Given the description of an element on the screen output the (x, y) to click on. 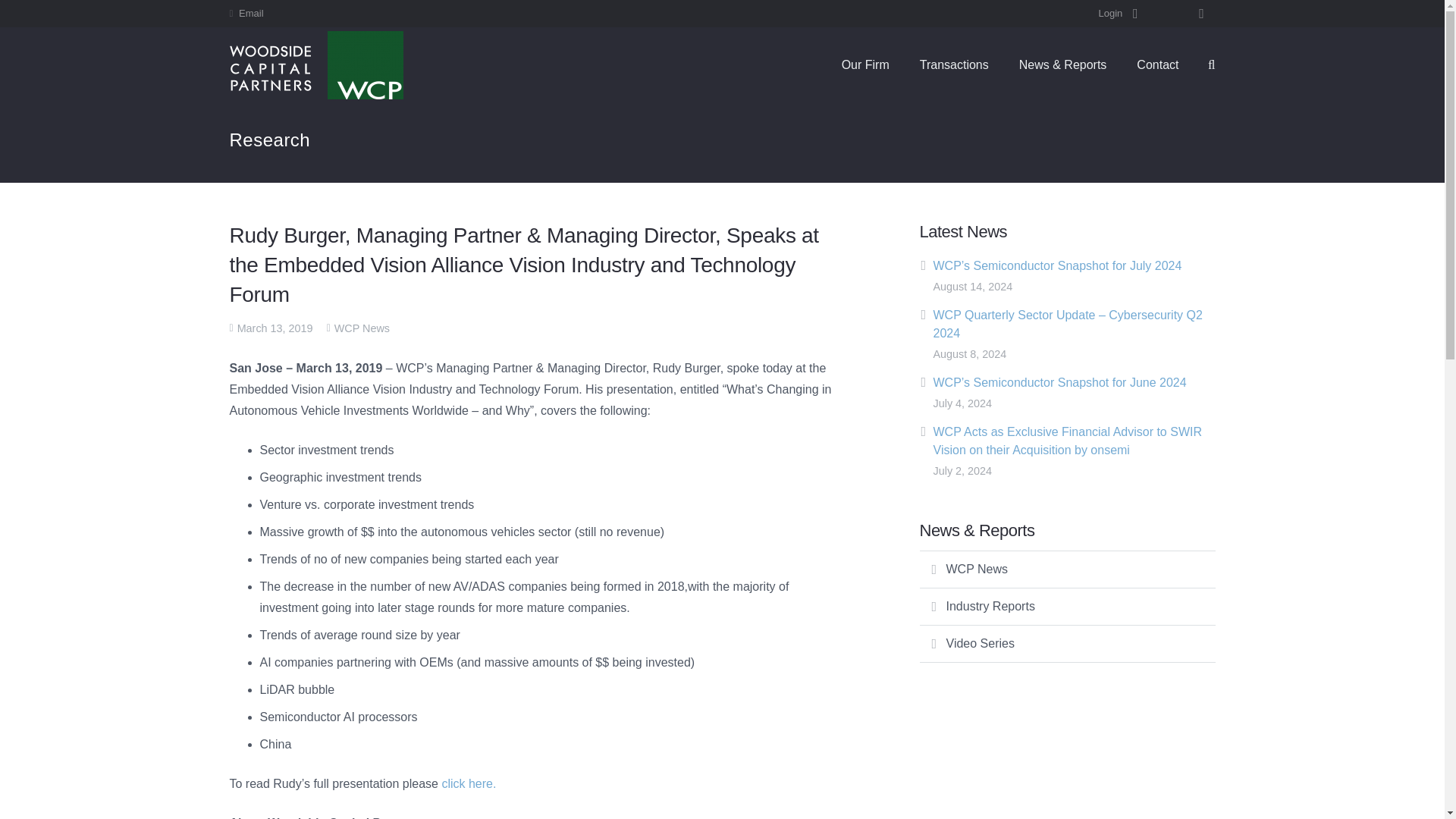
Transactions (954, 65)
Industry Reports (1066, 606)
WCP News (362, 328)
Login (1118, 13)
Email (250, 12)
Contact (1157, 65)
WCP News (1066, 569)
Our Firm (865, 65)
click here. (468, 783)
